Given the description of an element on the screen output the (x, y) to click on. 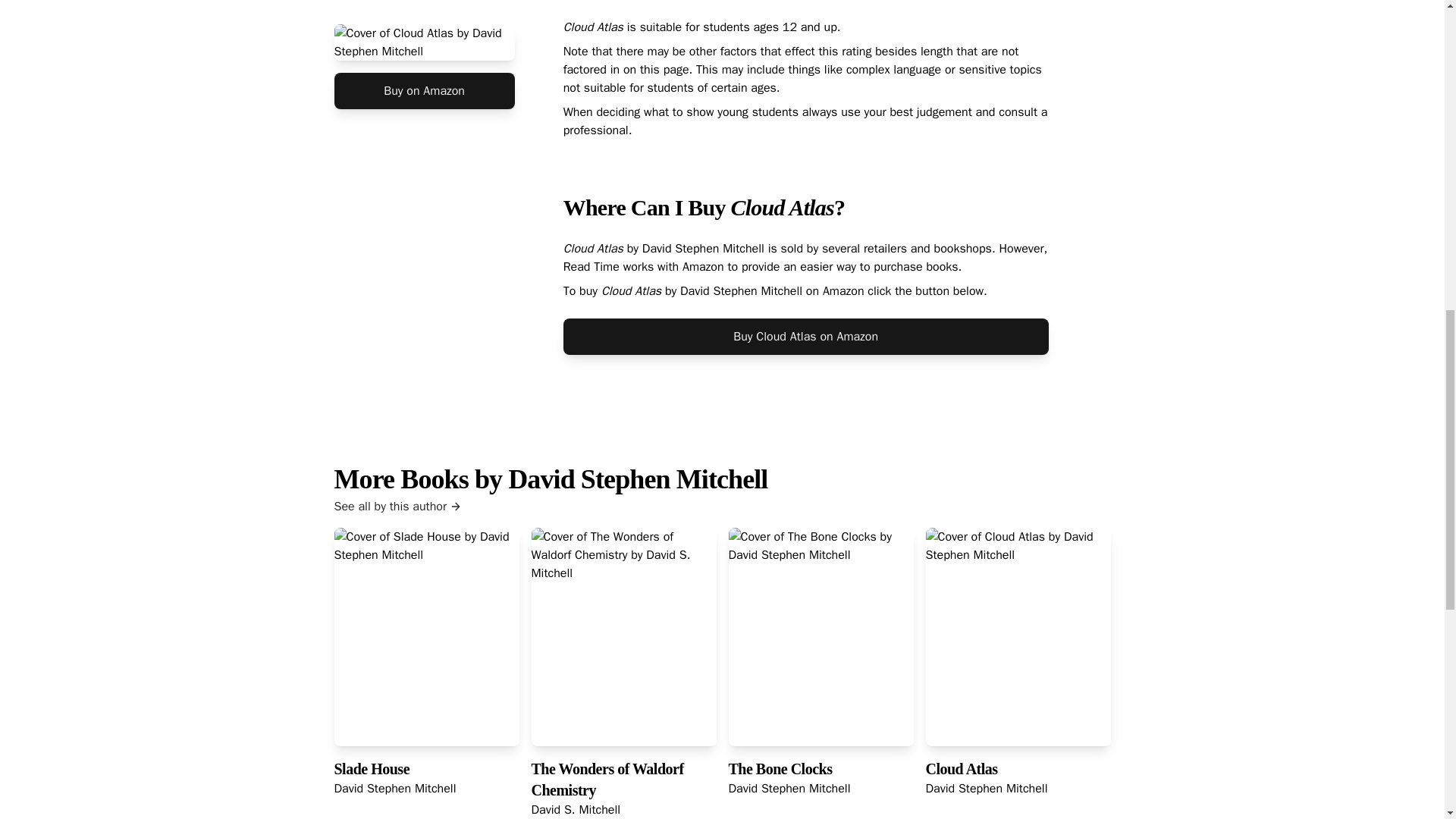
David Stephen Mitchell (985, 788)
Buy Cloud Atlas on Amazon (805, 336)
The Wonders of Waldorf Chemistry (606, 779)
Cloud Atlas (960, 768)
See all by this author (721, 506)
David Stephen Mitchell (394, 788)
David Stephen Mitchell (789, 788)
David S. Mitchell (575, 809)
Slade House (371, 768)
The Bone Clocks (779, 768)
